Given the description of an element on the screen output the (x, y) to click on. 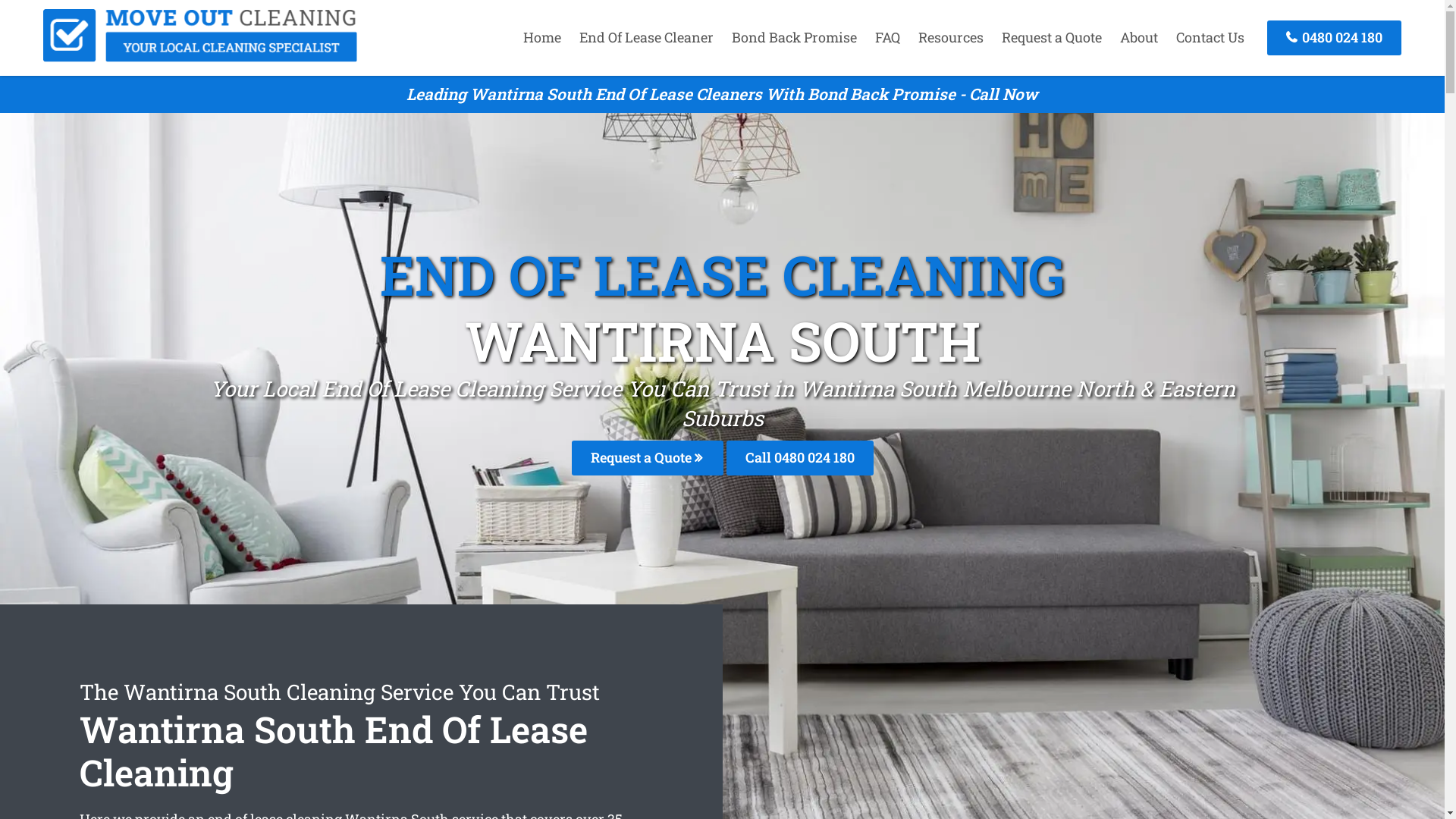
End Of Lease Cleaner Element type: text (646, 37)
Home Element type: text (541, 37)
End of Lease Cleaning Element type: hover (200, 56)
Bond Back Promise Element type: text (794, 37)
Request a Quote Element type: text (1051, 37)
Call 0480 024 180 Element type: text (799, 457)
0480 024 180 Element type: text (1334, 37)
About Element type: text (1138, 37)
Resources Element type: text (950, 37)
Request a Quote Element type: text (647, 457)
FAQ Element type: text (887, 37)
Contact Us Element type: text (1210, 37)
